Given the description of an element on the screen output the (x, y) to click on. 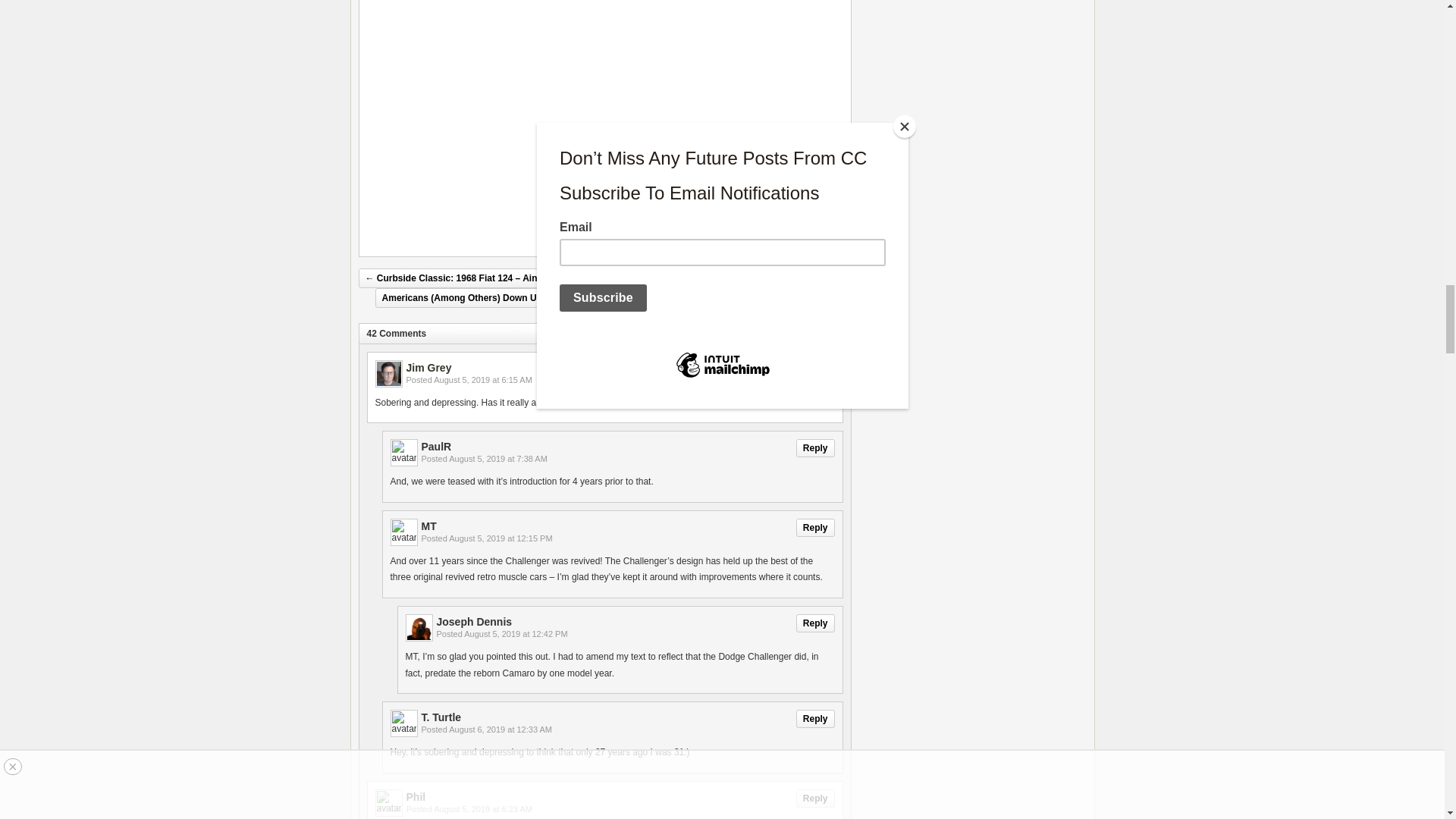
2019-08-05T07:38:38-07:00 (497, 458)
2019-08-05T12:15:29-07:00 (499, 537)
2019-08-05T06:15:04-07:00 (482, 379)
